Given the description of an element on the screen output the (x, y) to click on. 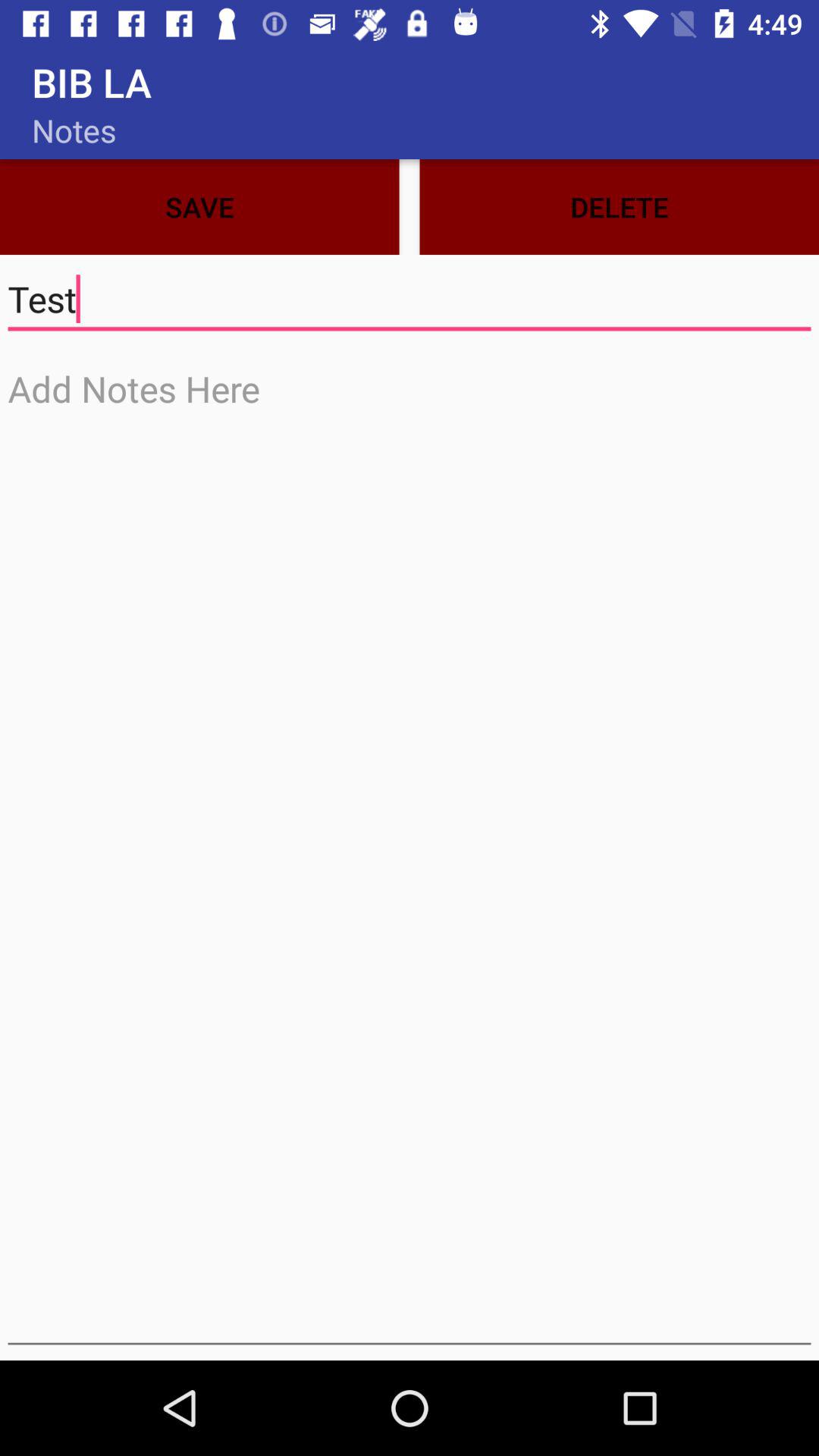
press item to the left of delete (199, 206)
